Given the description of an element on the screen output the (x, y) to click on. 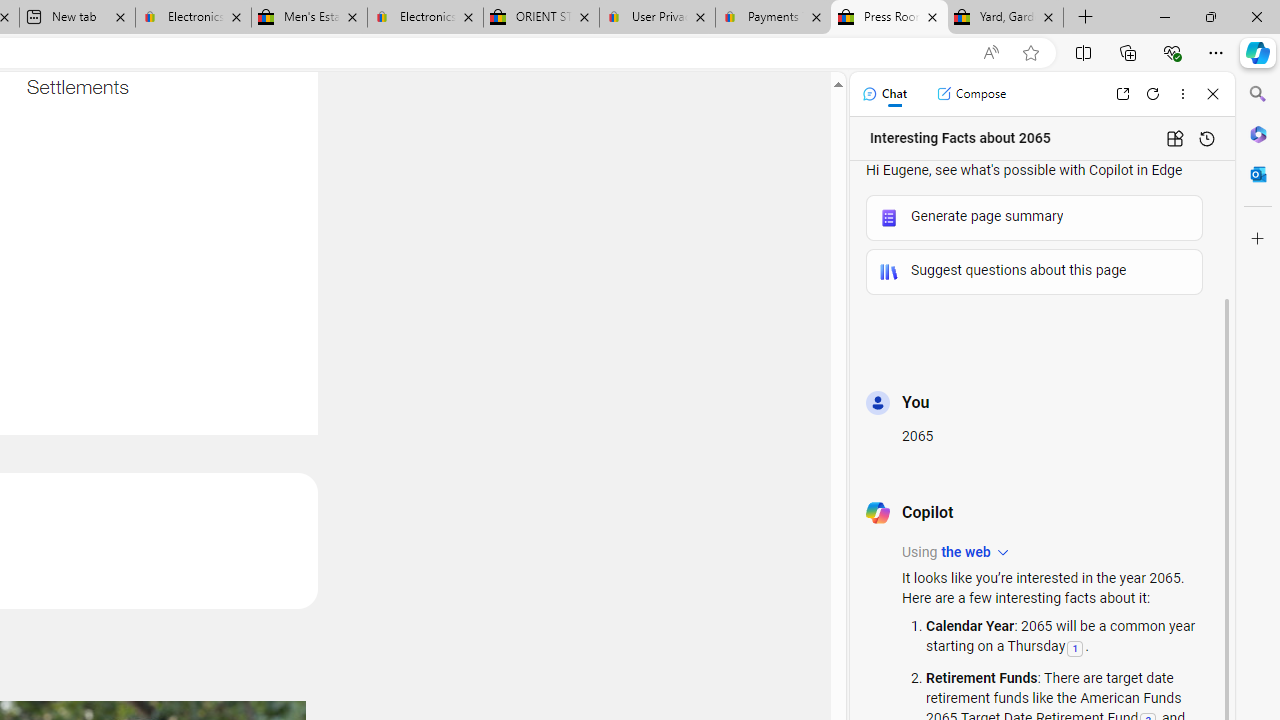
Electronics, Cars, Fashion, Collectibles & More | eBay (424, 17)
Compose (971, 93)
Yard, Garden & Outdoor Living (1005, 17)
Payments Terms of Use | eBay.com (772, 17)
